Given the description of an element on the screen output the (x, y) to click on. 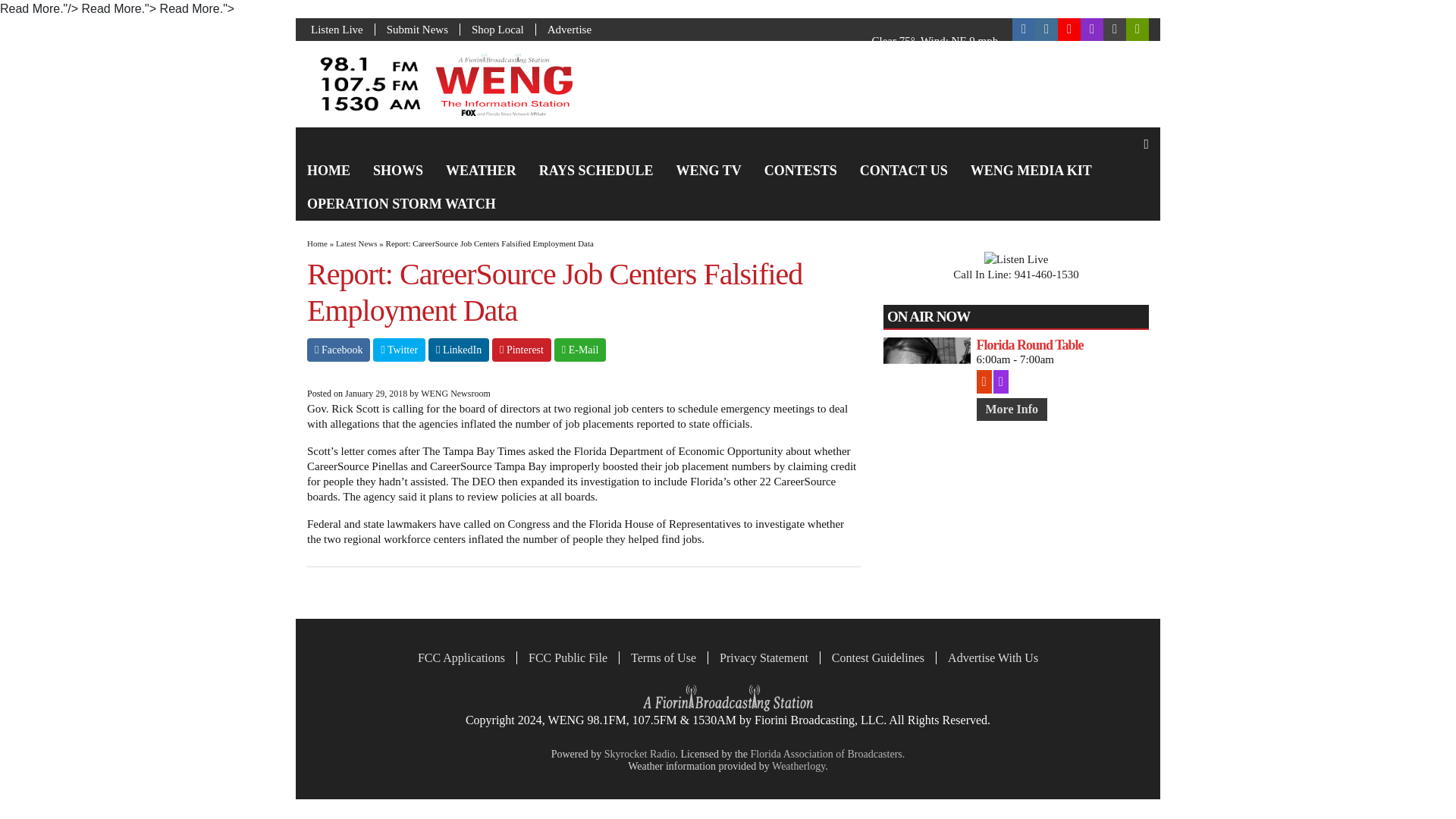
OPERATION STORM WATCH (400, 203)
WEATHER (480, 170)
View all posts by WENG Newsroom (455, 393)
Share to LinkedIn (458, 349)
Florida Round Table (1062, 344)
Shop Local (497, 29)
Listen Live (341, 29)
WENG MEDIA KIT (1031, 170)
CONTACT US (903, 170)
Advertise (563, 29)
